Given the description of an element on the screen output the (x, y) to click on. 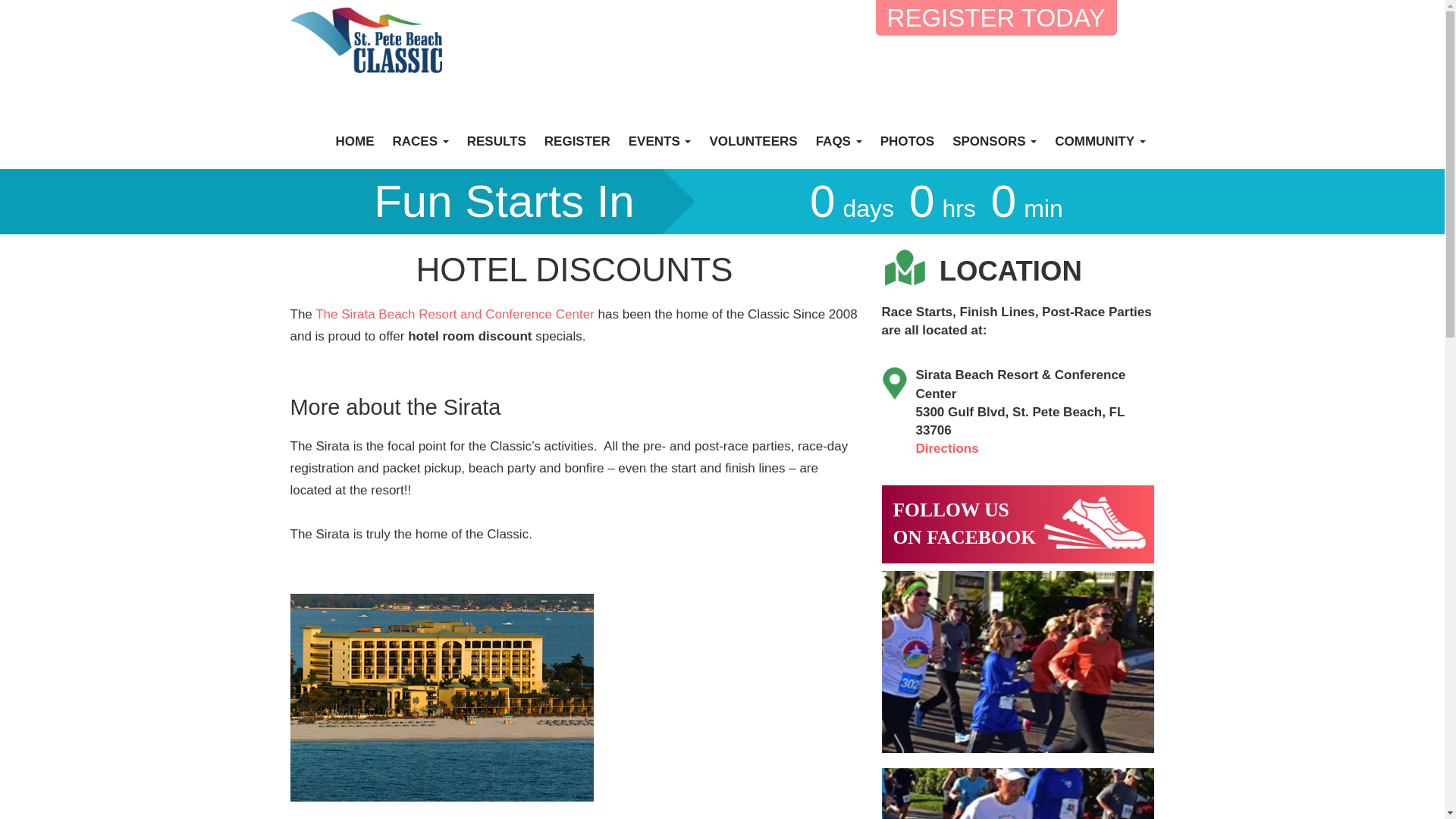
REGISTER TODAY (996, 18)
RACES (420, 141)
FAQS (839, 141)
REGISTER (576, 141)
The Sirata Beach Resort and Conference Center (455, 314)
VOLUNTEERS (1017, 524)
EVENTS (752, 141)
Directions (660, 141)
COMMUNITY (946, 448)
HOME (1099, 141)
RESULTS (354, 141)
PHOTOS (496, 141)
SPONSORS (907, 141)
